Given the description of an element on the screen output the (x, y) to click on. 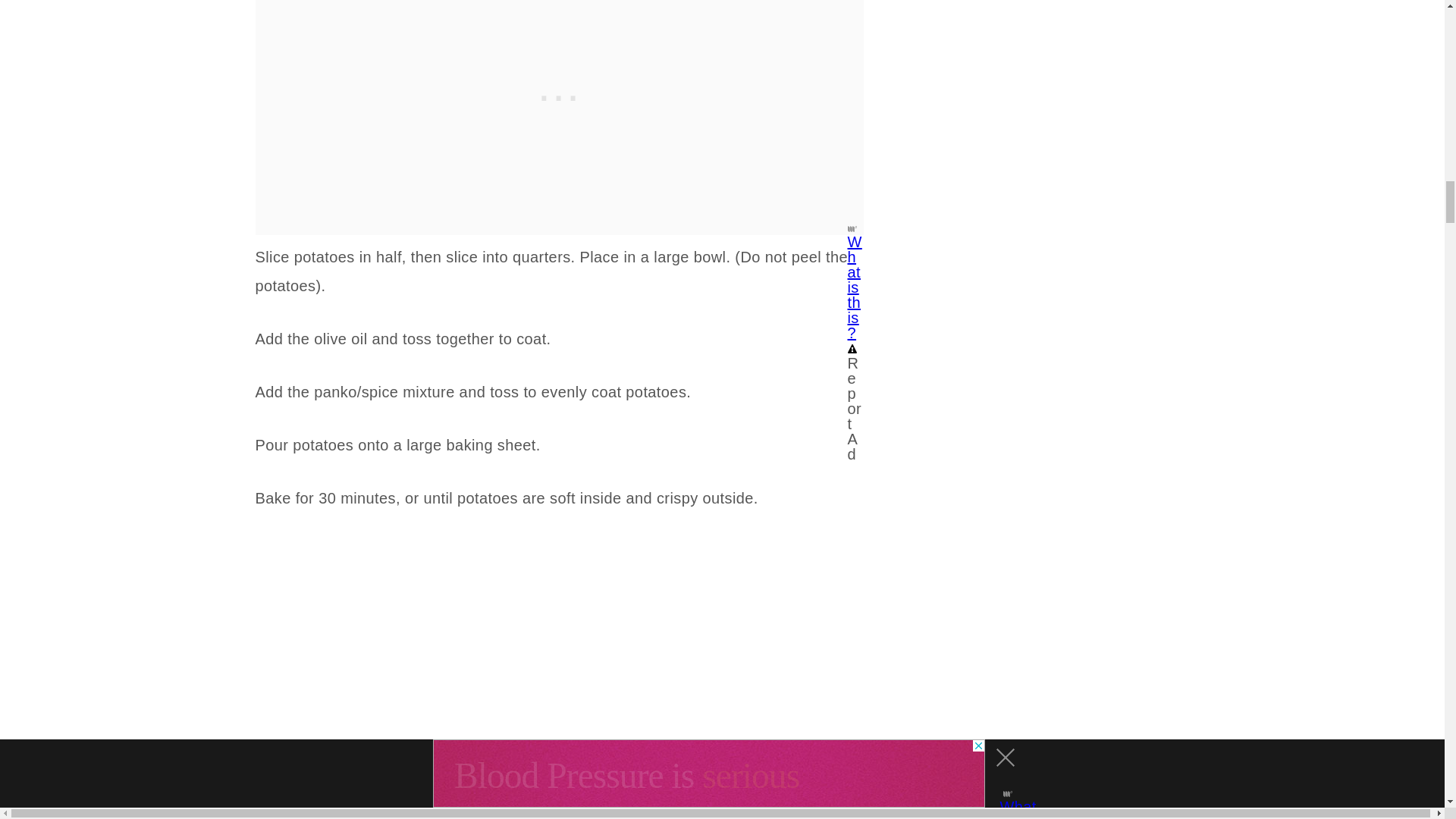
3rd party ad content (558, 45)
